Given the description of an element on the screen output the (x, y) to click on. 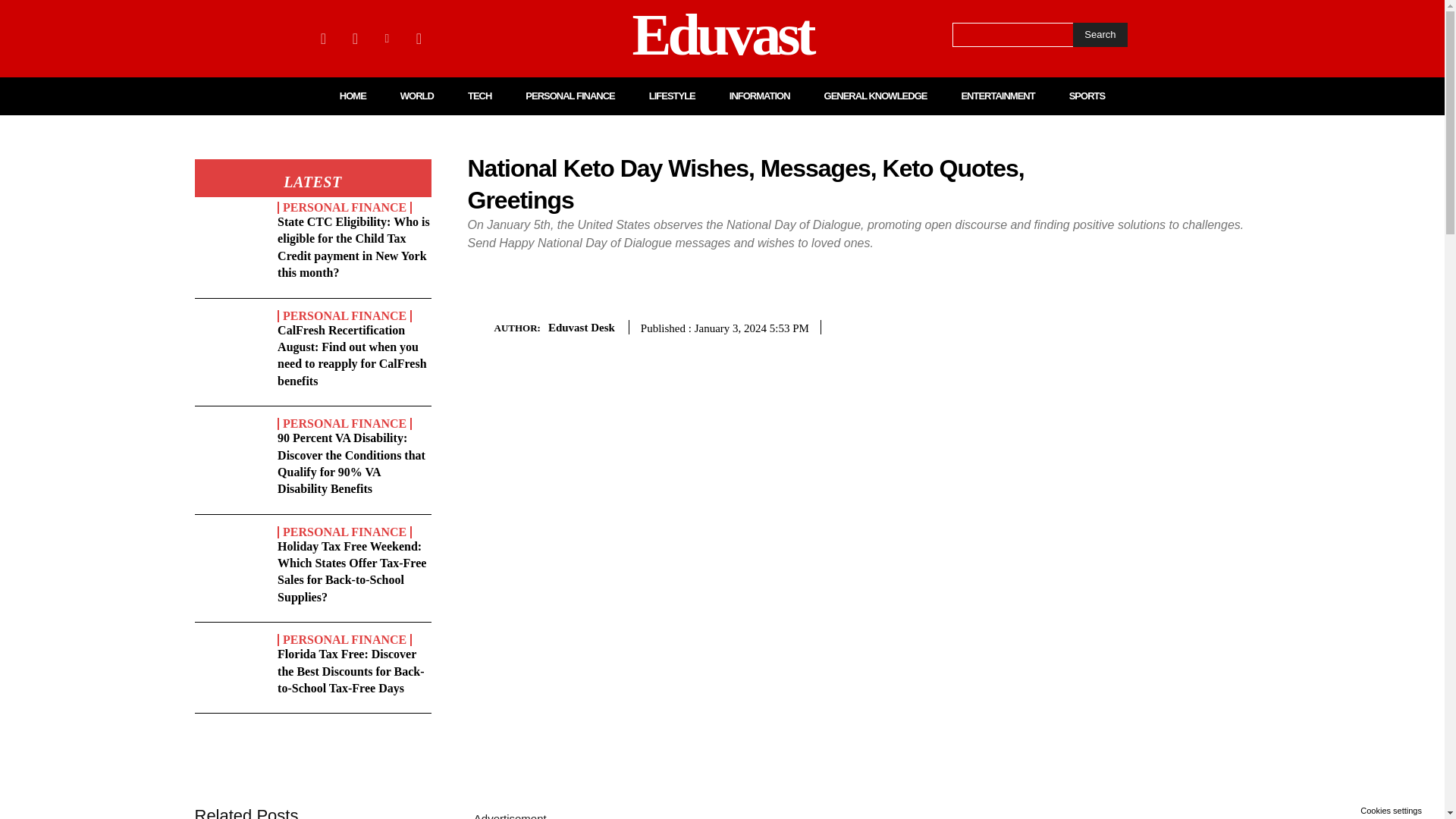
GENERAL KNOWLEDGE (875, 95)
SPORTS (1086, 95)
INFORMATION (759, 95)
Linkedin (386, 38)
ENTERTAINMENT (996, 95)
